Given the description of an element on the screen output the (x, y) to click on. 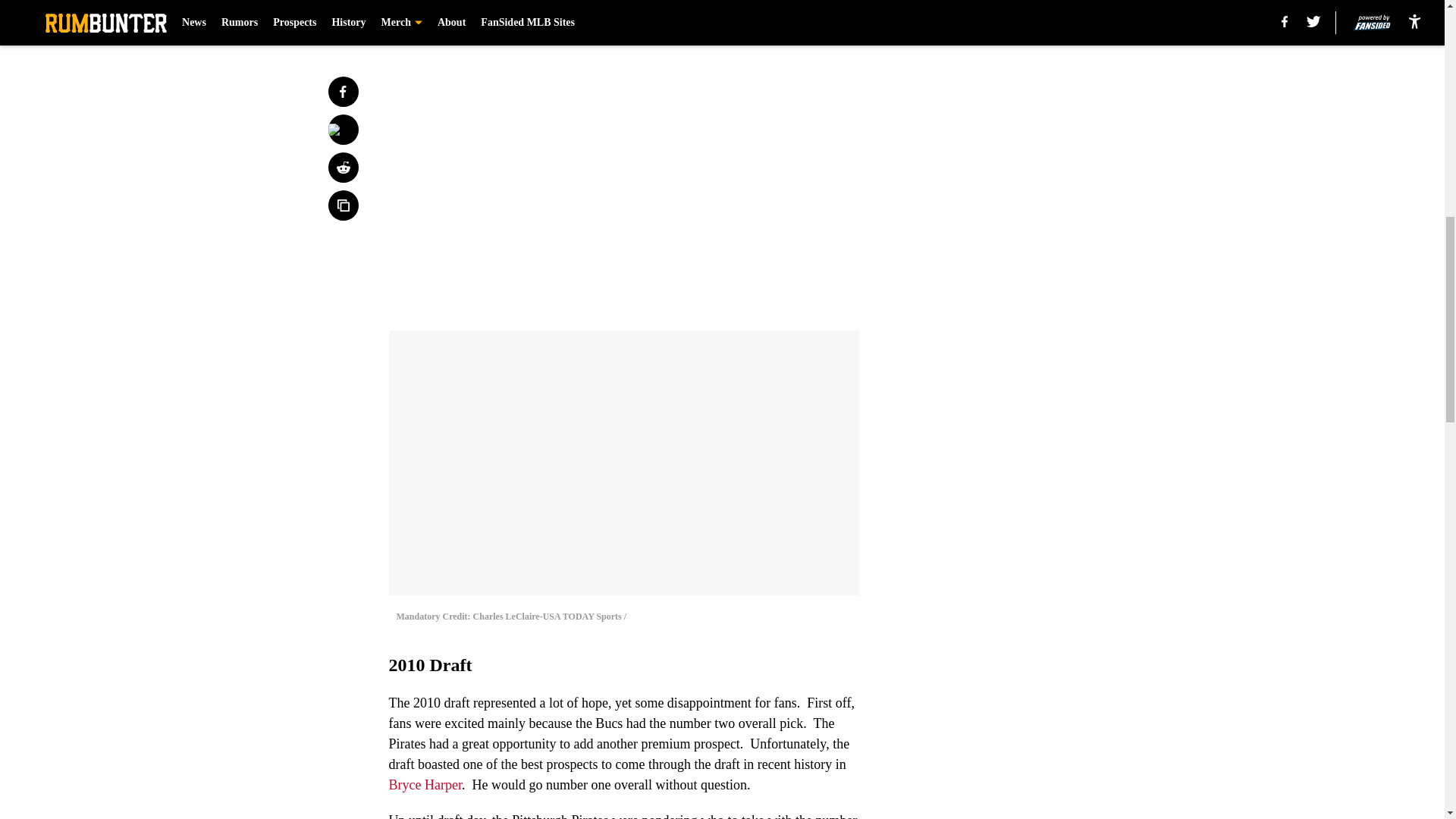
Next (813, 20)
Prev (433, 20)
Bryce Harper (424, 784)
